Given the description of an element on the screen output the (x, y) to click on. 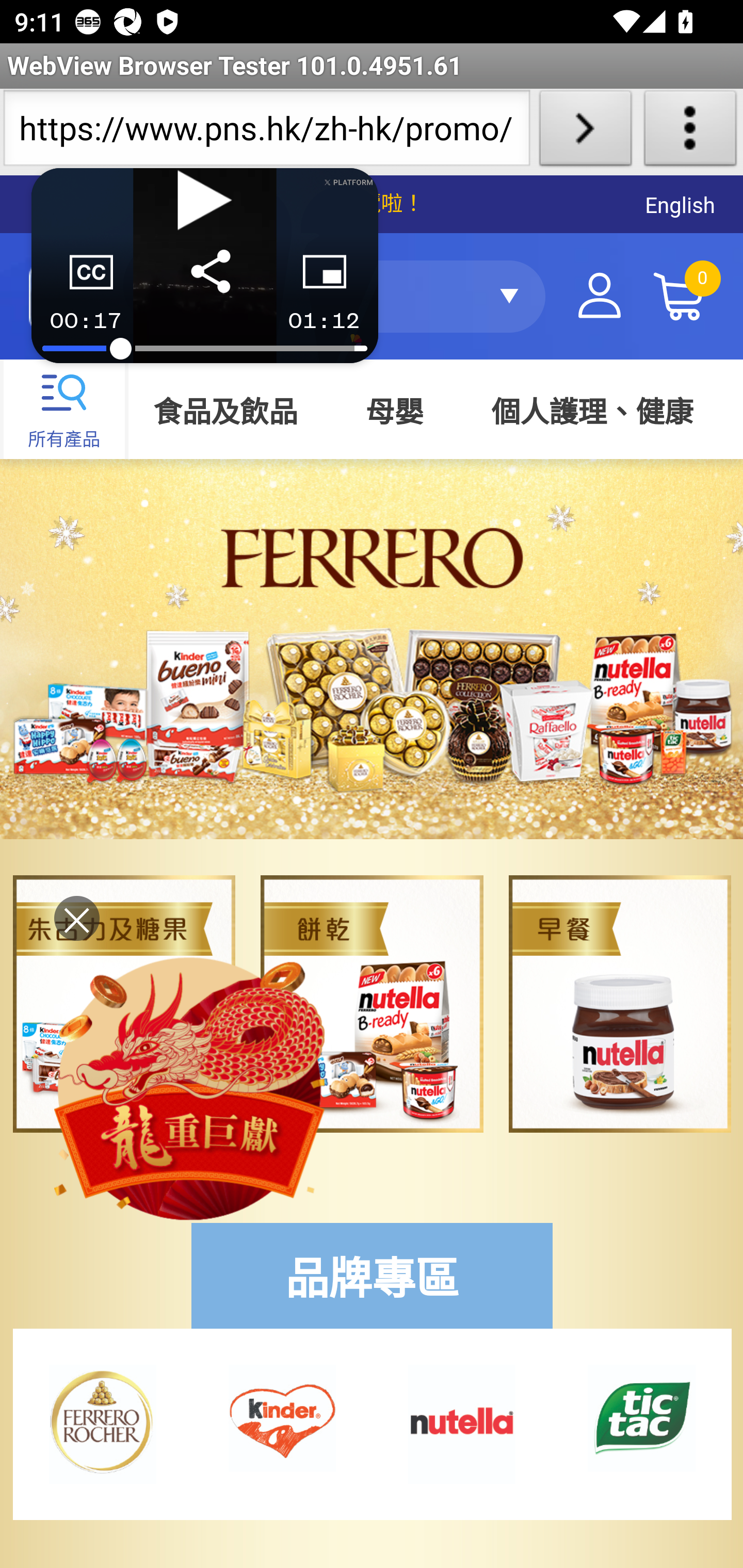
https://www.pns.hk/zh-hk/promo/Ferrero (266, 132)
Load URL (585, 132)
About WebView (690, 132)
English (680, 205)
 (599, 295)
 0 (678, 295)
所有產品 (65, 409)
食品及飲品 食品及飲品 母嬰 母嬰 個人護理、健康 個人護理、健康 家居生活 (434, 413)
食品及飲品 (229, 413)
母嬰 (393, 413)
個人護理、健康 (591, 413)
Item (371, 1003)
Item (620, 1003)
cny (190, 1085)
%E8%B2%BB%E5%88%97%E7%BE%85 (101, 1422)
%E5%81%A5%E9%81%94 (282, 1417)
%E8%83%BD%E5%A4%9A%E7%9B%8A (461, 1422)
tic-tac (641, 1417)
